Given the description of an element on the screen output the (x, y) to click on. 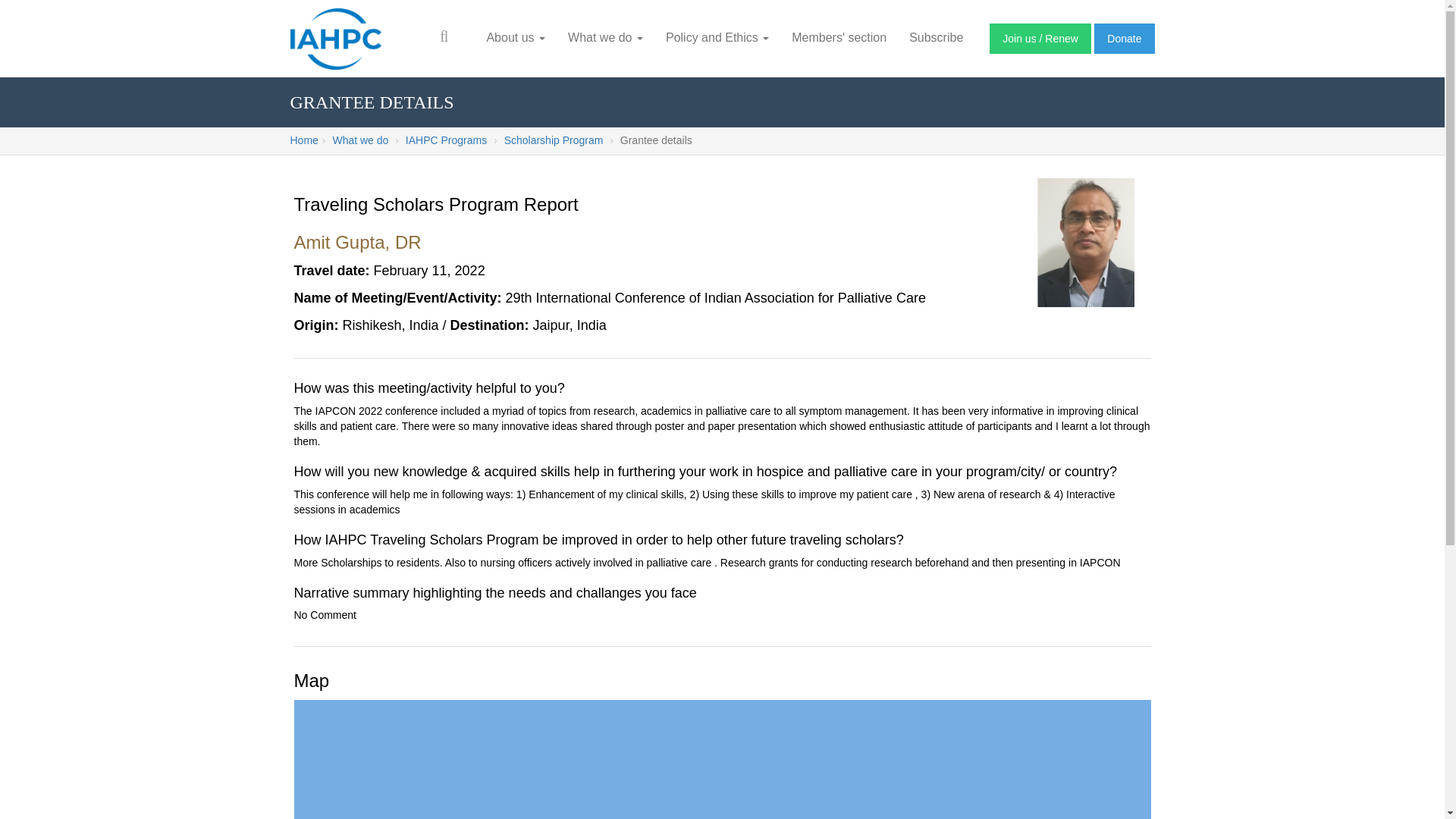
What we do (604, 38)
About us (515, 38)
